Given the description of an element on the screen output the (x, y) to click on. 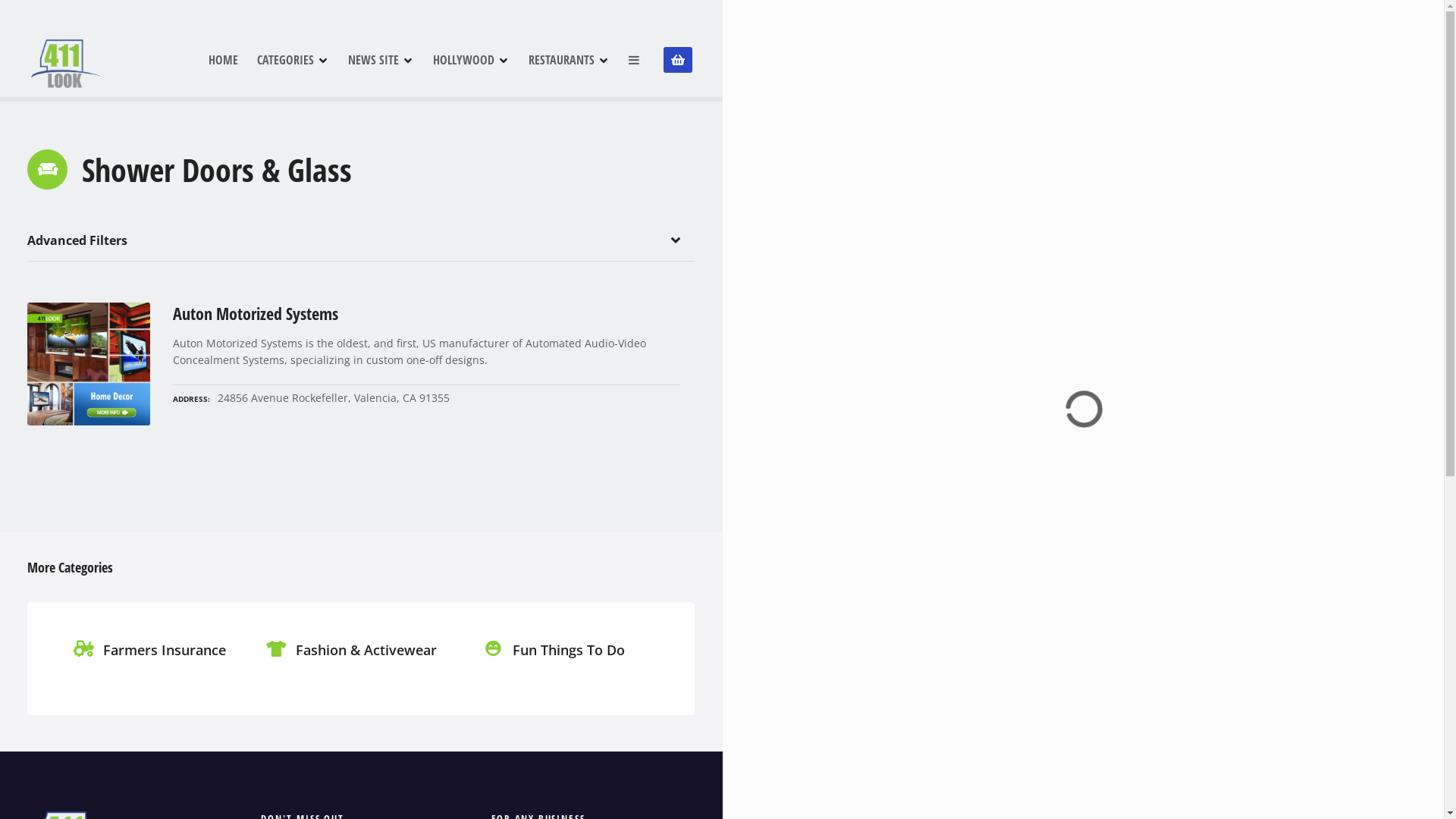
Fashion & Activewear Element type: text (355, 667)
RESTAURANTS Element type: text (568, 59)
Auton Motorized Systems Element type: text (425, 313)
Farmers Insurance Element type: text (152, 667)
NEWS SITE Element type: text (380, 59)
Fun Things To Do Element type: text (557, 667)
HOME Element type: text (222, 59)
CATEGORIES Element type: text (292, 59)
HOLLYWOOD Element type: text (470, 59)
